Given the description of an element on the screen output the (x, y) to click on. 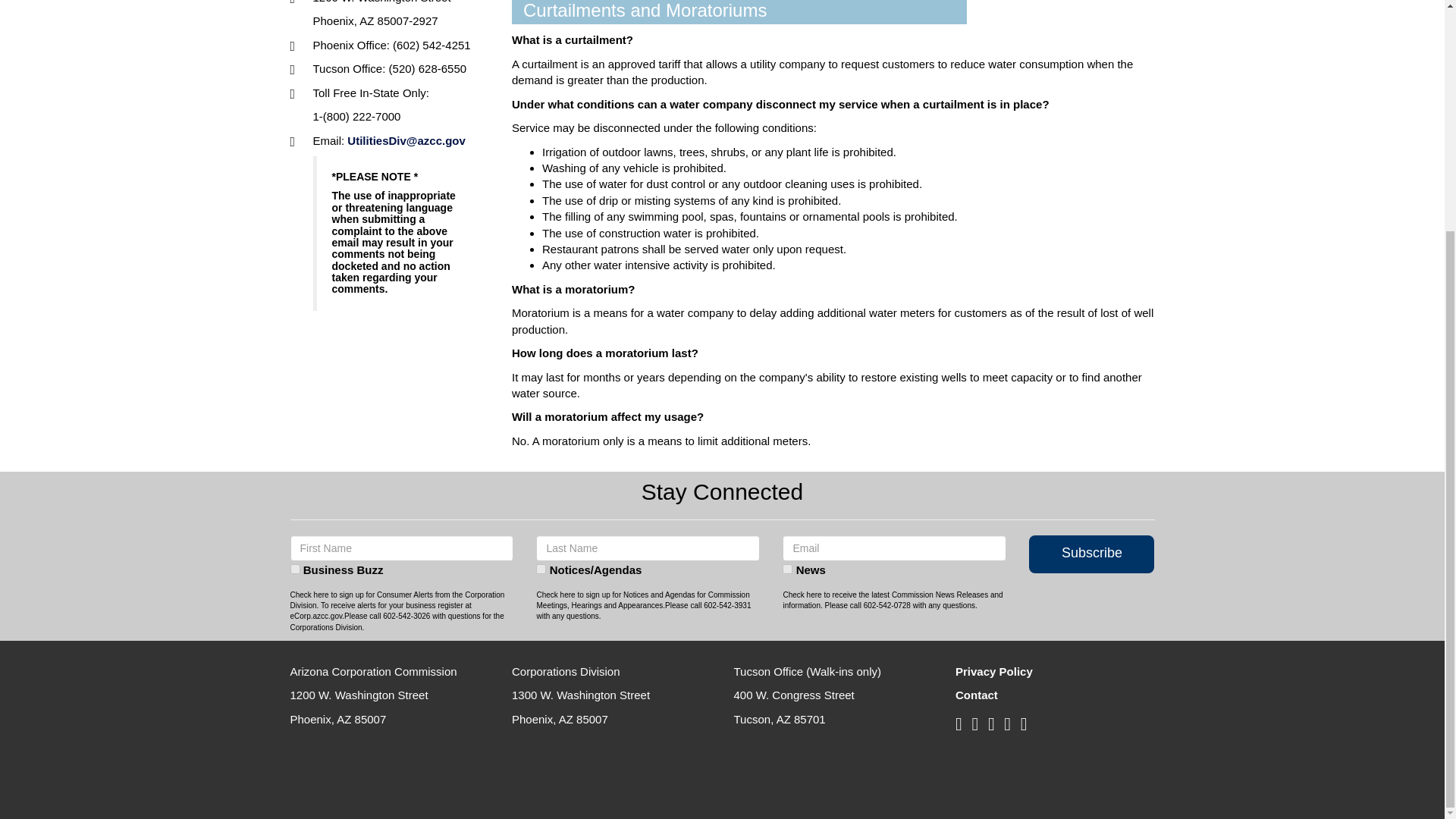
true (294, 569)
Contact (976, 694)
true (540, 569)
true (787, 569)
Privacy Policy (993, 671)
Subscribe (1091, 551)
